Given the description of an element on the screen output the (x, y) to click on. 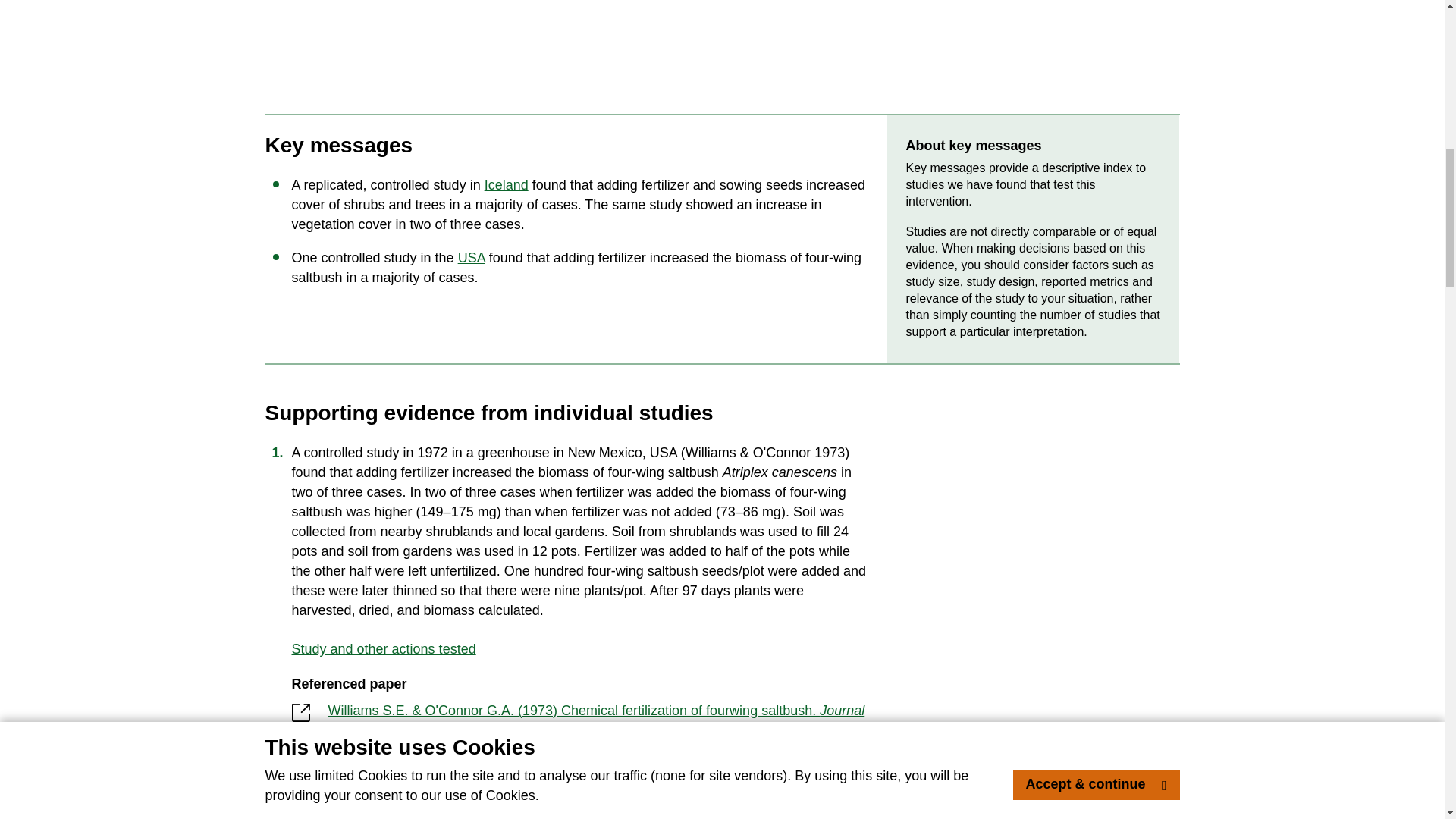
USA (471, 257)
Study and other actions tested (579, 649)
Iceland (506, 184)
